Given the description of an element on the screen output the (x, y) to click on. 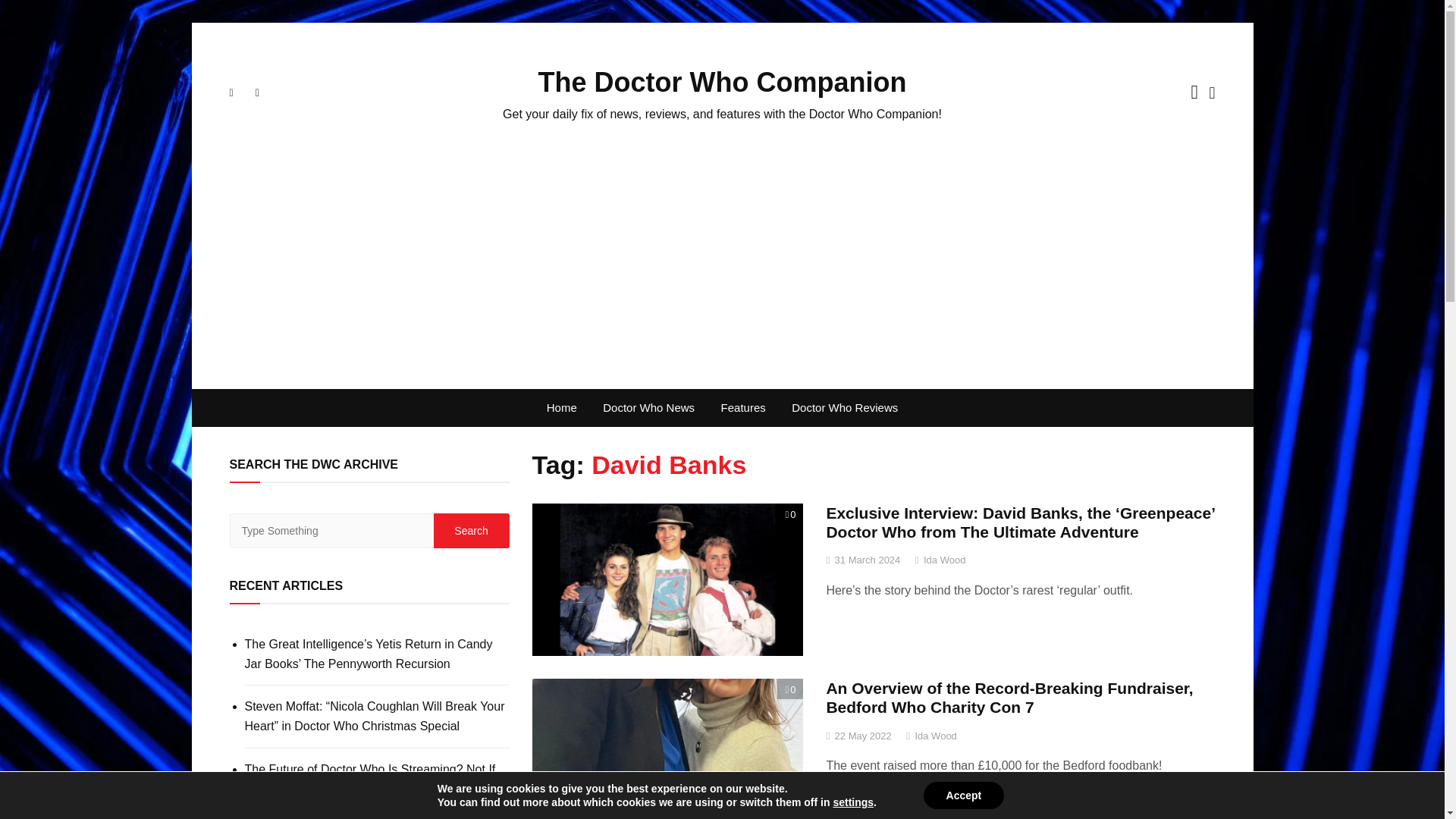
Features (743, 407)
Home (561, 407)
Search (471, 530)
The Doctor Who Companion (722, 81)
Doctor Who News (648, 407)
Doctor Who Reviews (844, 407)
